Given the description of an element on the screen output the (x, y) to click on. 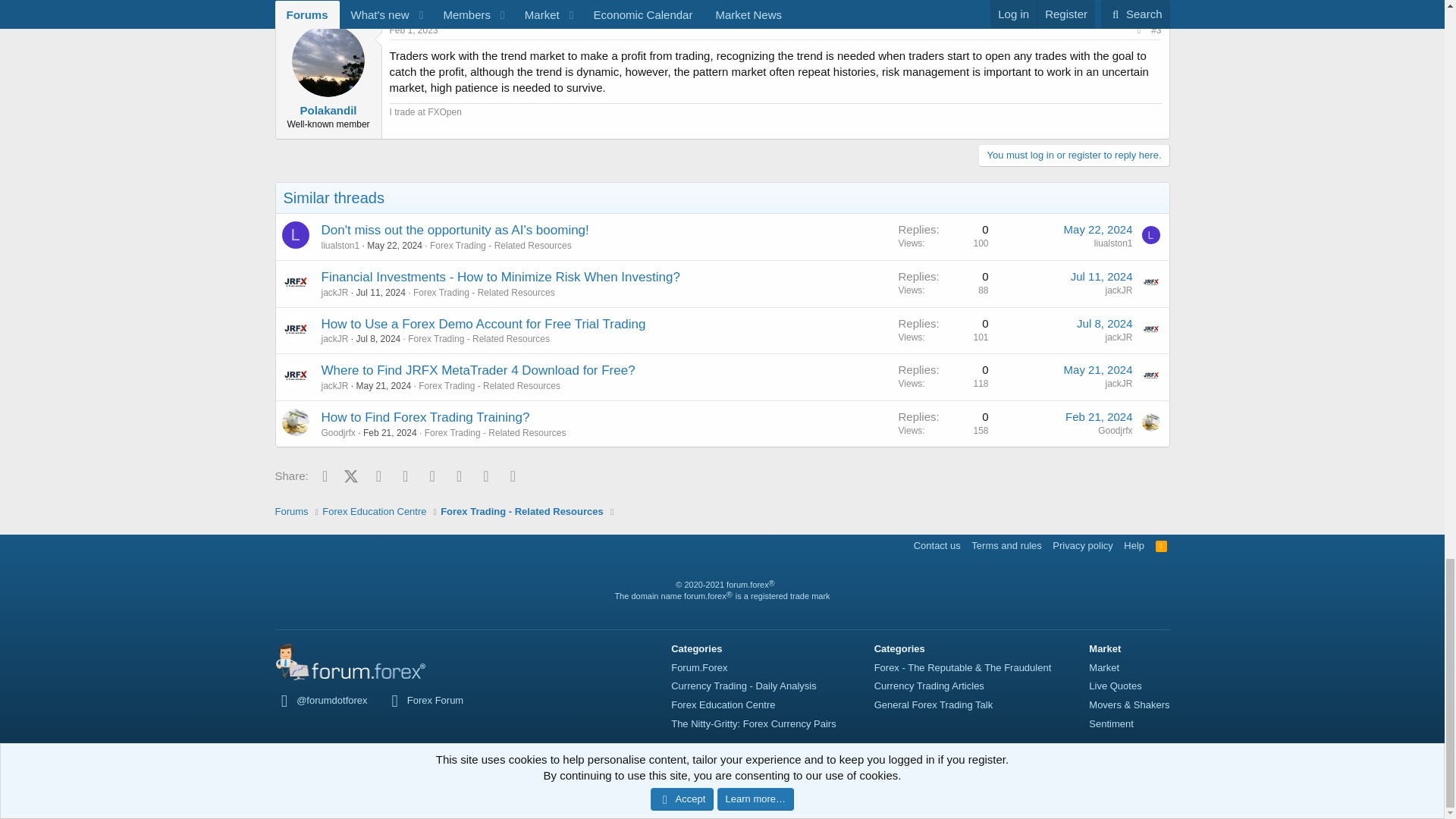
May 22, 2024 at 7:02 AM (394, 245)
Jul 8, 2024 at 8:43 AM (378, 338)
Jul 11, 2024 at 8:00 AM (381, 292)
Feb 1, 2023 at 9:48 PM (414, 30)
May 22, 2024 at 7:02 AM (1098, 228)
First message reaction score: 0 (942, 329)
Jul 8, 2024 at 8:43 AM (1104, 323)
First message reaction score: 0 (942, 236)
Jul 11, 2024 at 8:00 AM (1101, 276)
First message reaction score: 0 (942, 283)
